Given the description of an element on the screen output the (x, y) to click on. 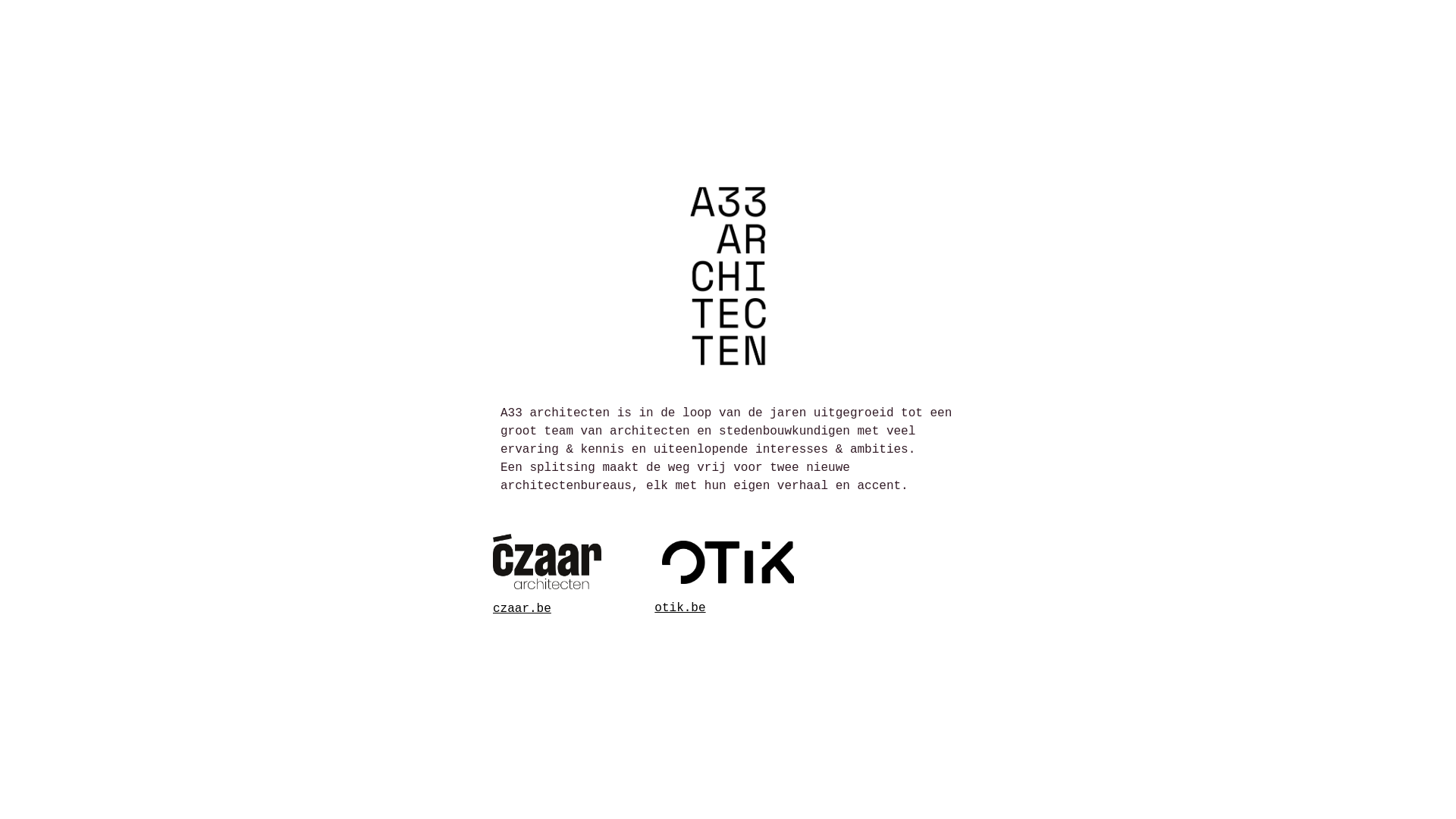
czaar.be Element type: text (521, 608)
otik.be Element type: text (679, 608)
